Given the description of an element on the screen output the (x, y) to click on. 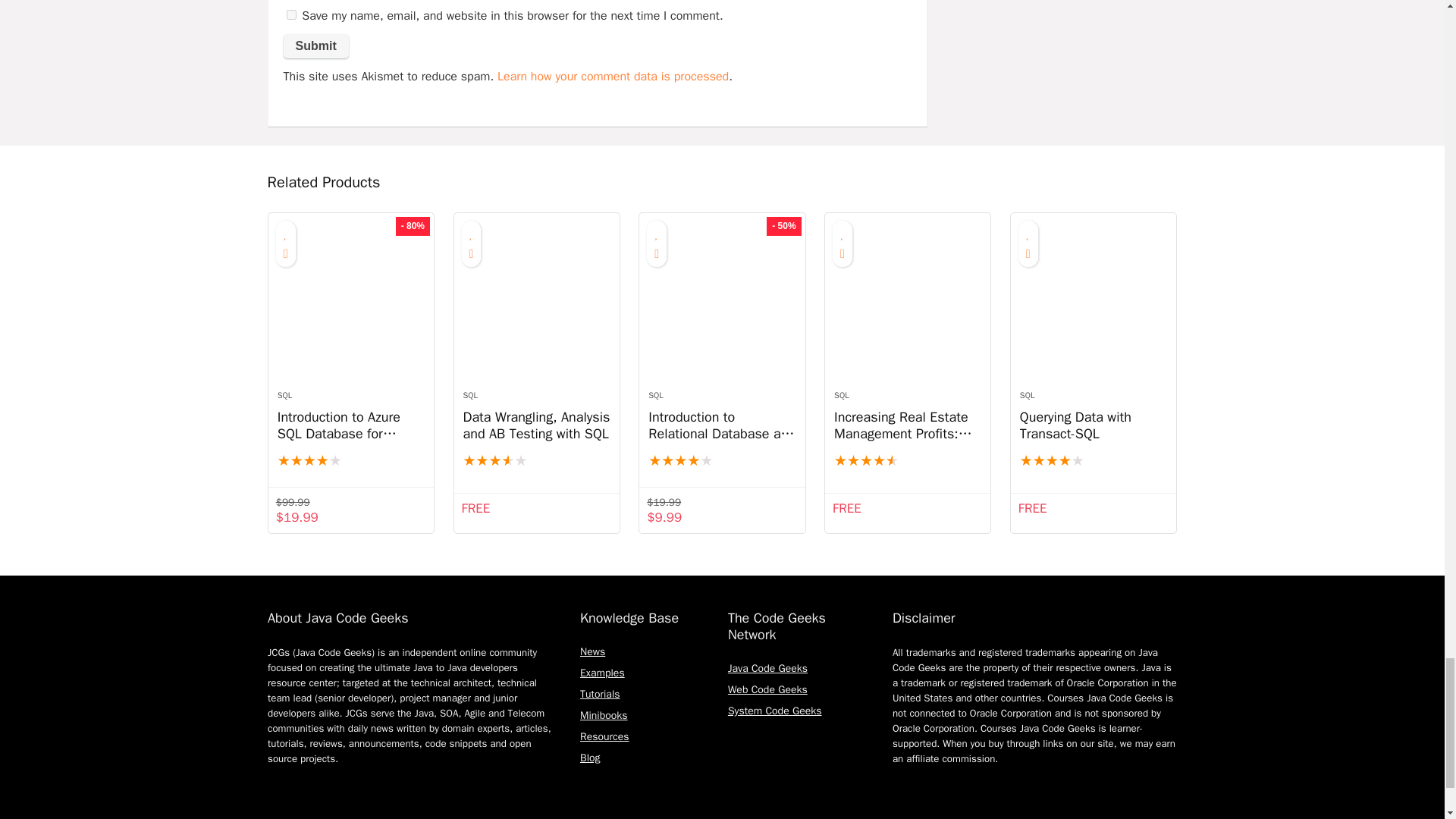
Submit (316, 46)
Learn how your comment data is processed (613, 76)
yes (291, 14)
Submit (316, 46)
